Given the description of an element on the screen output the (x, y) to click on. 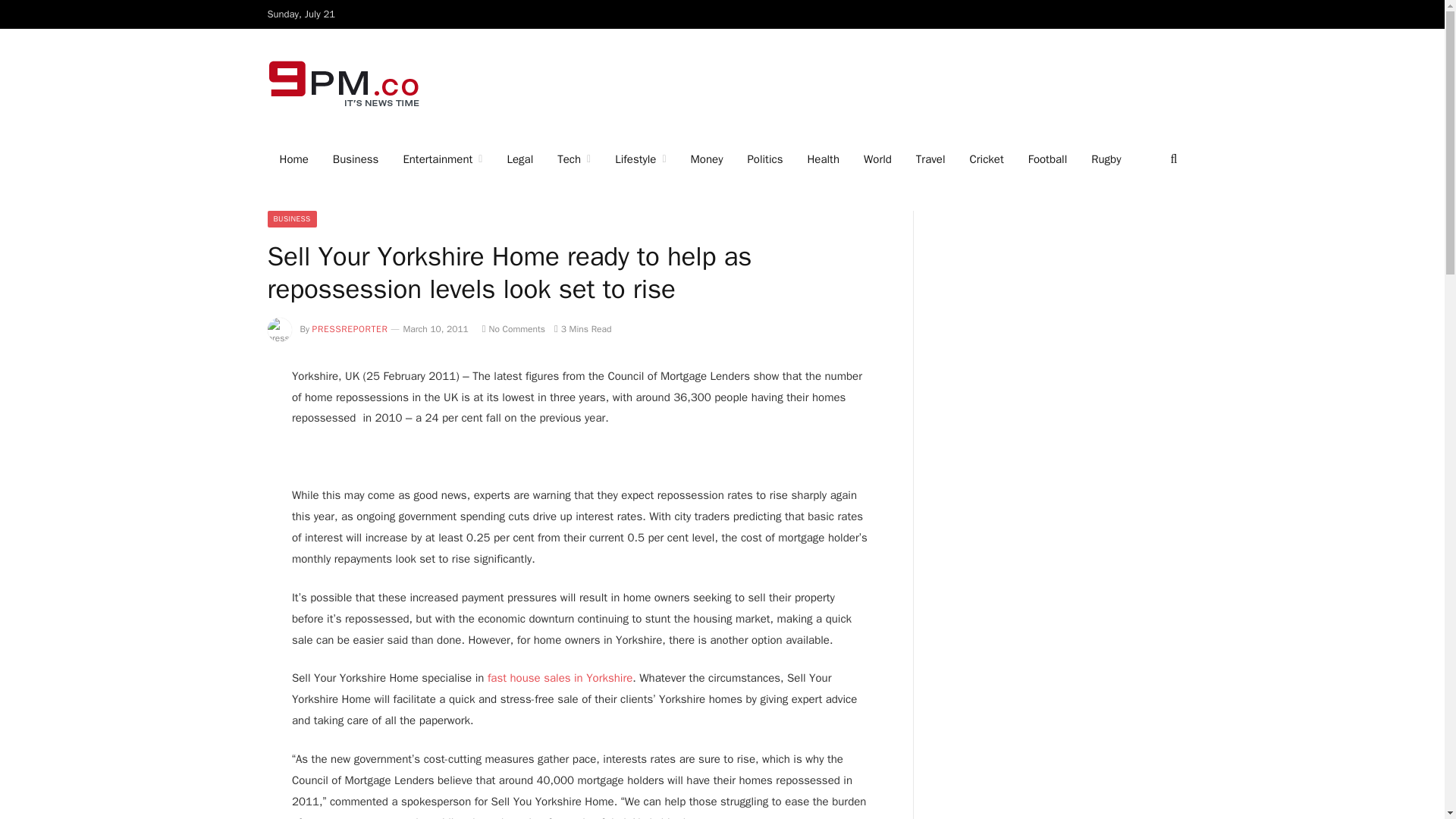
Lifestyle (640, 159)
Home (293, 159)
9pm.Co Latest News (344, 83)
Tech (573, 159)
Posts by pressreporter (350, 328)
Legal (519, 159)
Business (355, 159)
Entertainment (442, 159)
